Given the description of an element on the screen output the (x, y) to click on. 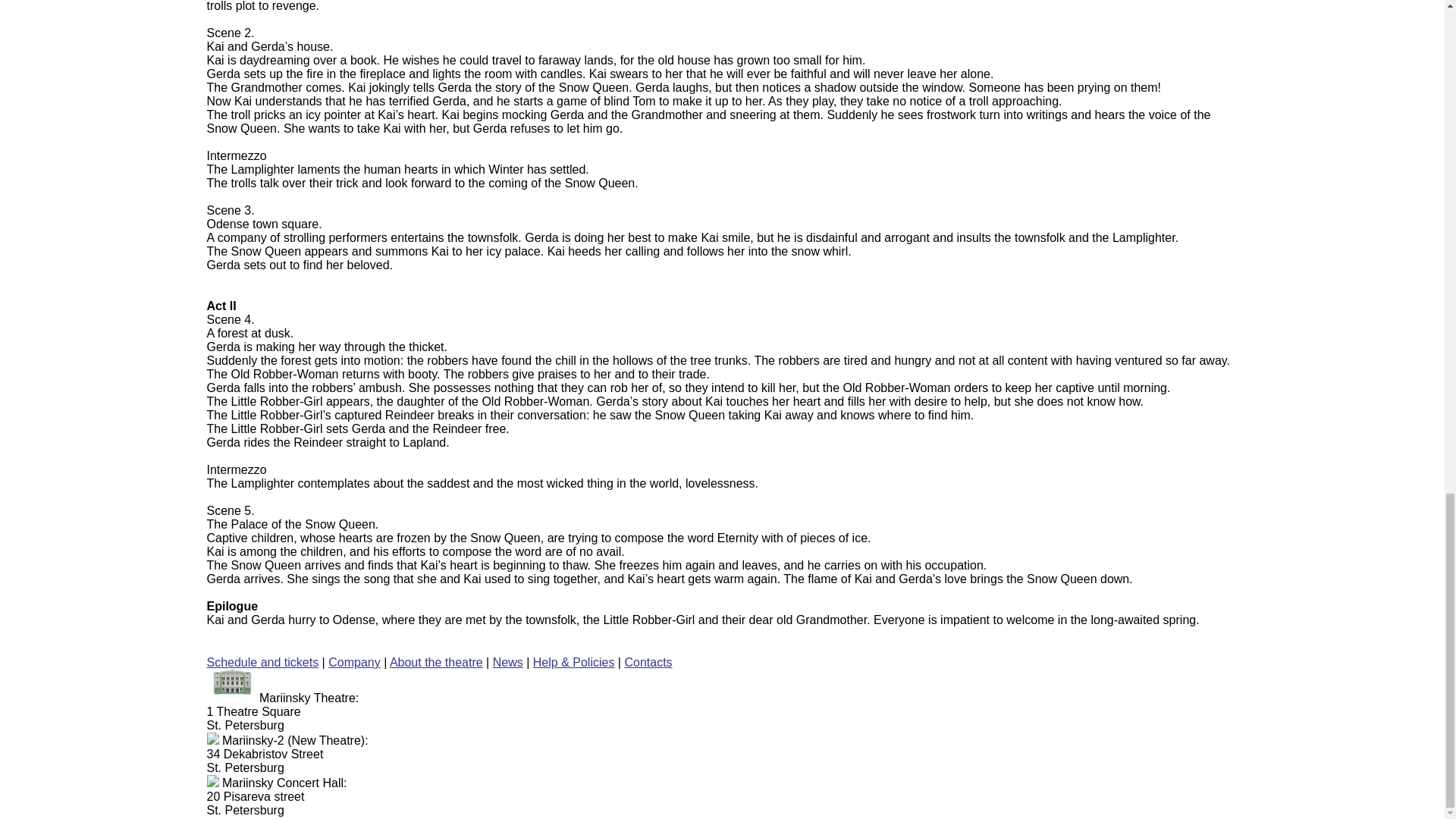
About the theatre (436, 662)
Contacts (647, 662)
Company (354, 662)
News (507, 662)
Schedule and tickets (262, 662)
